Given the description of an element on the screen output the (x, y) to click on. 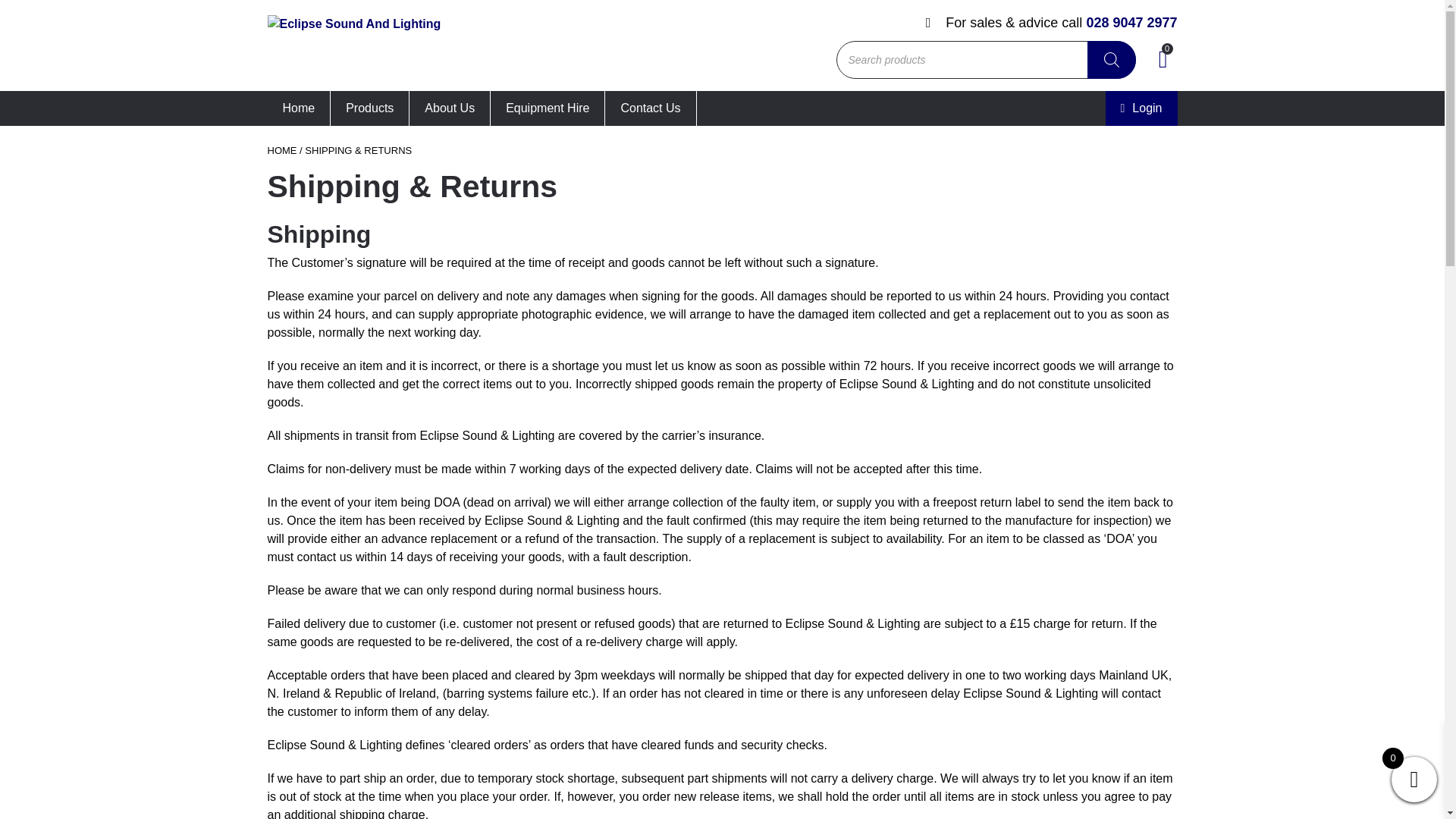
Products (369, 108)
Login (1141, 108)
Equipment Hire (547, 108)
Home (298, 108)
HOME (281, 150)
028 9047 2977 (1131, 22)
Contact Us (650, 108)
About Us (449, 108)
Eclipse Sound And Lighting (353, 45)
